Given the description of an element on the screen output the (x, y) to click on. 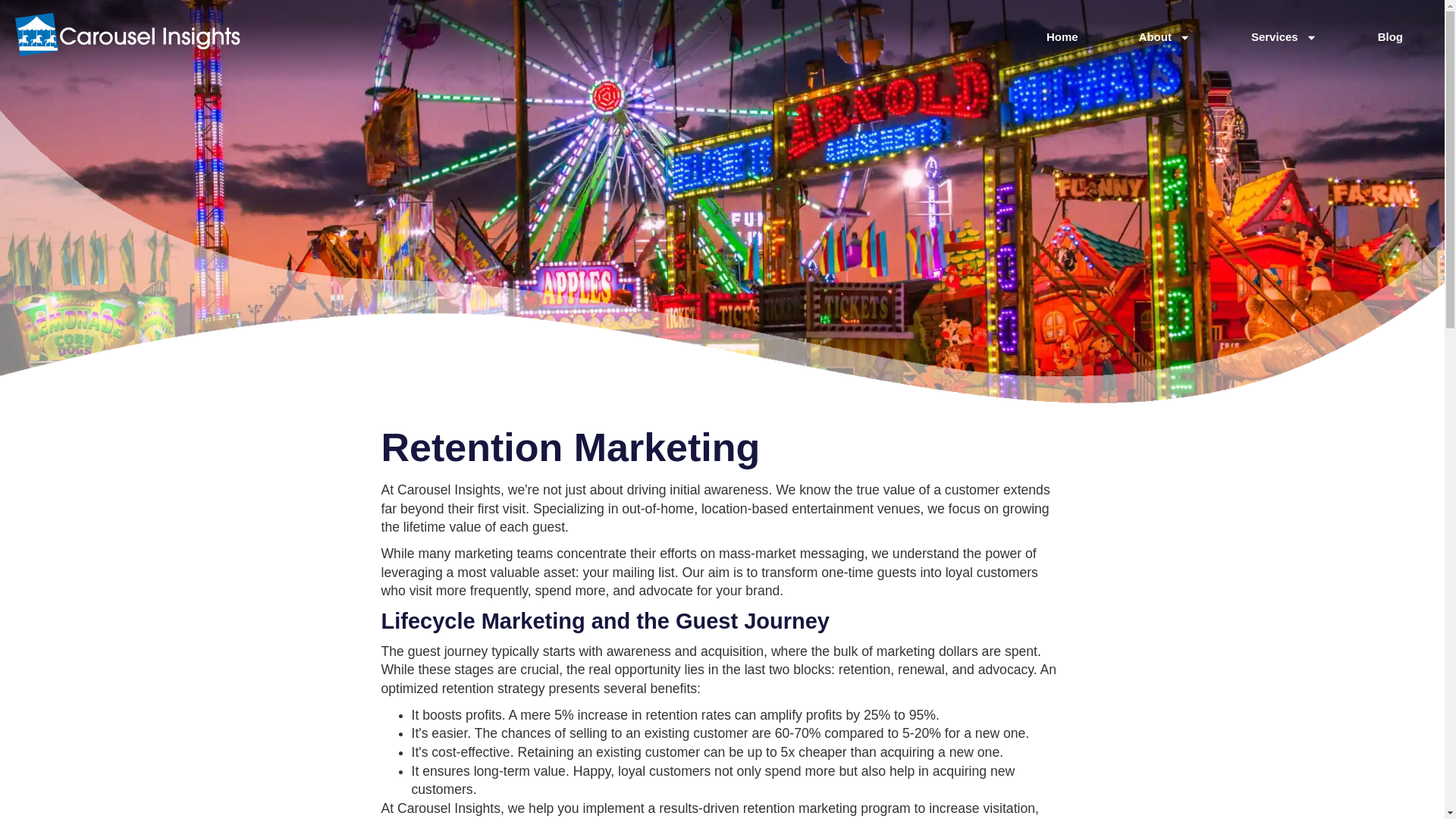
Services (1284, 36)
Home (1061, 36)
About (1164, 36)
Blog (1390, 36)
